Given the description of an element on the screen output the (x, y) to click on. 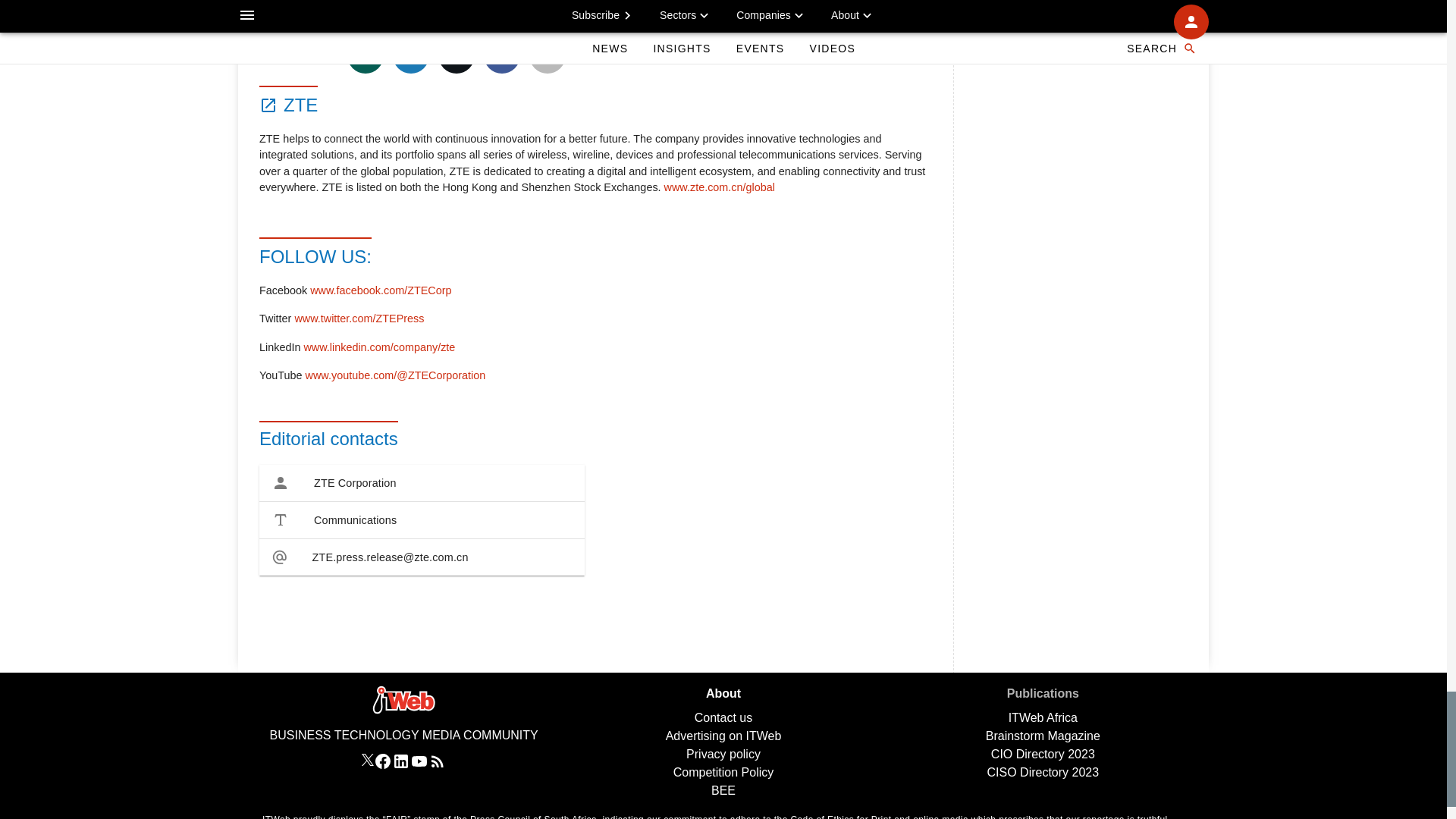
ZTE (288, 101)
